Given the description of an element on the screen output the (x, y) to click on. 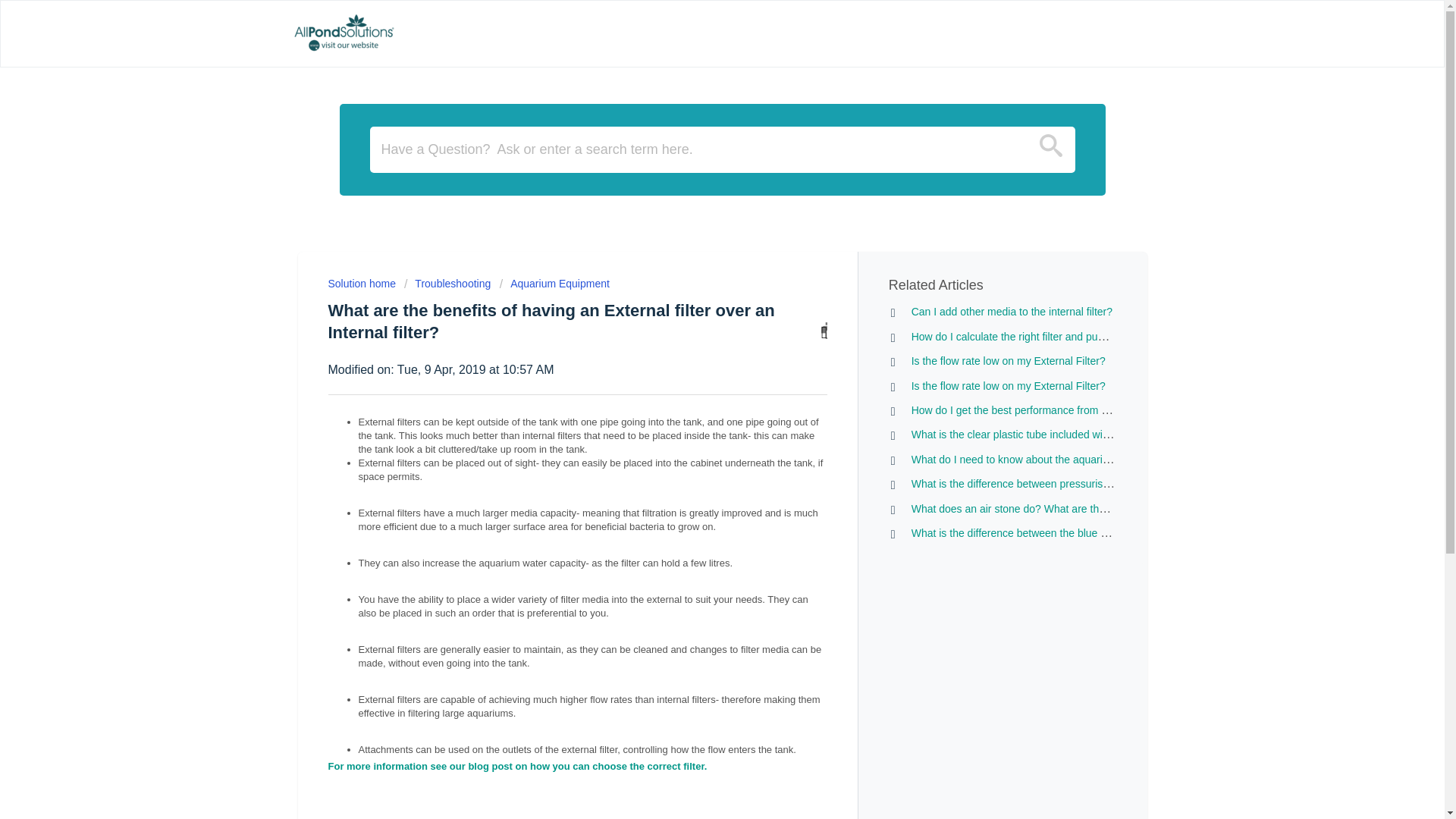
Is the flow rate low on my External Filter? (1008, 386)
Can I add other media to the internal filter? (1011, 311)
Print this Article (824, 330)
Is the flow rate low on my External Filter? (1008, 360)
Aquarium Equipment (554, 283)
Solution home (362, 283)
How do I get the best performance from my aquarium filter? (1051, 409)
What does an air stone do? What are the Benefits? (1032, 508)
Troubleshooting (447, 283)
What do I need to know about the aquarium external filter? (1048, 459)
